Given the description of an element on the screen output the (x, y) to click on. 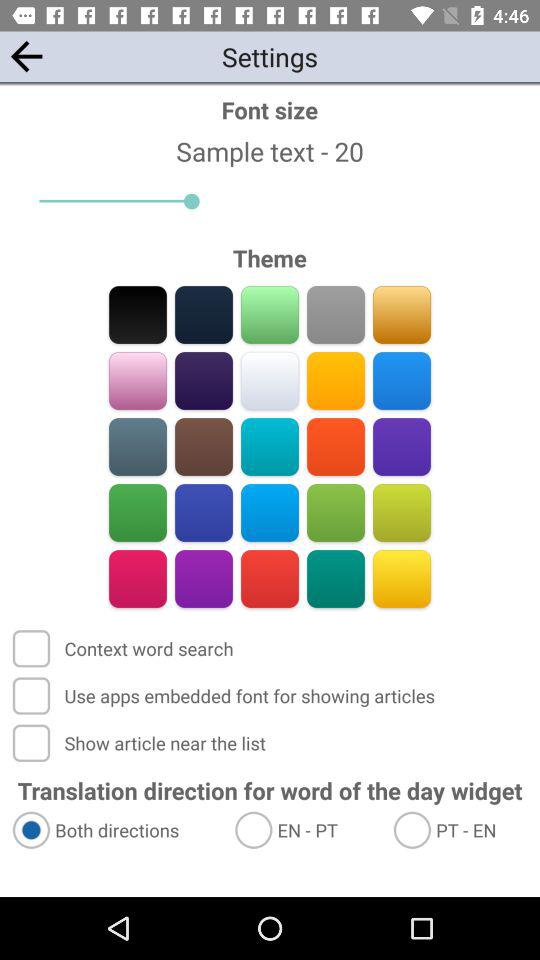
select green theme (335, 512)
